Given the description of an element on the screen output the (x, y) to click on. 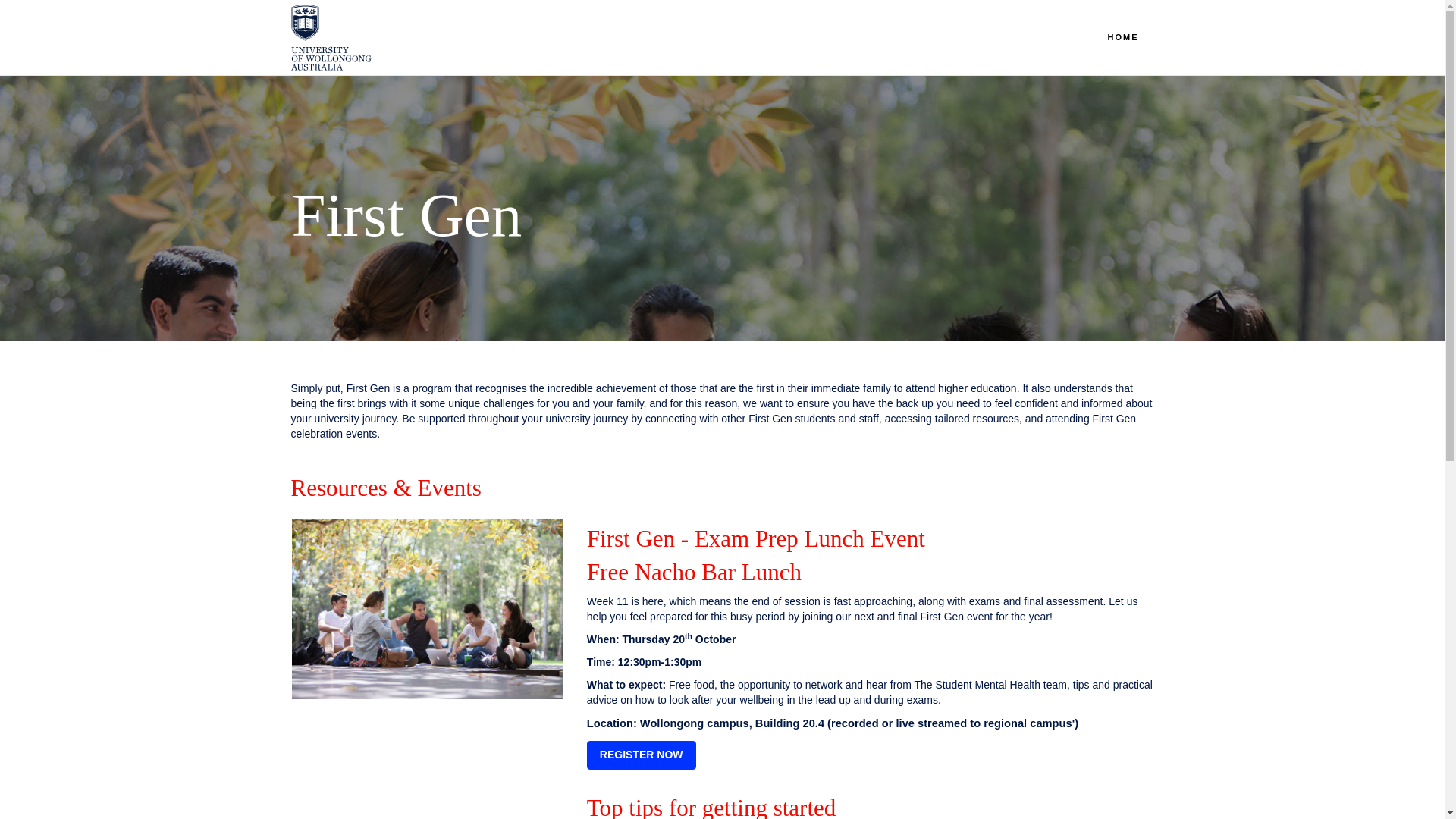
REGISTER NOW (640, 755)
HOME (1123, 37)
